Given the description of an element on the screen output the (x, y) to click on. 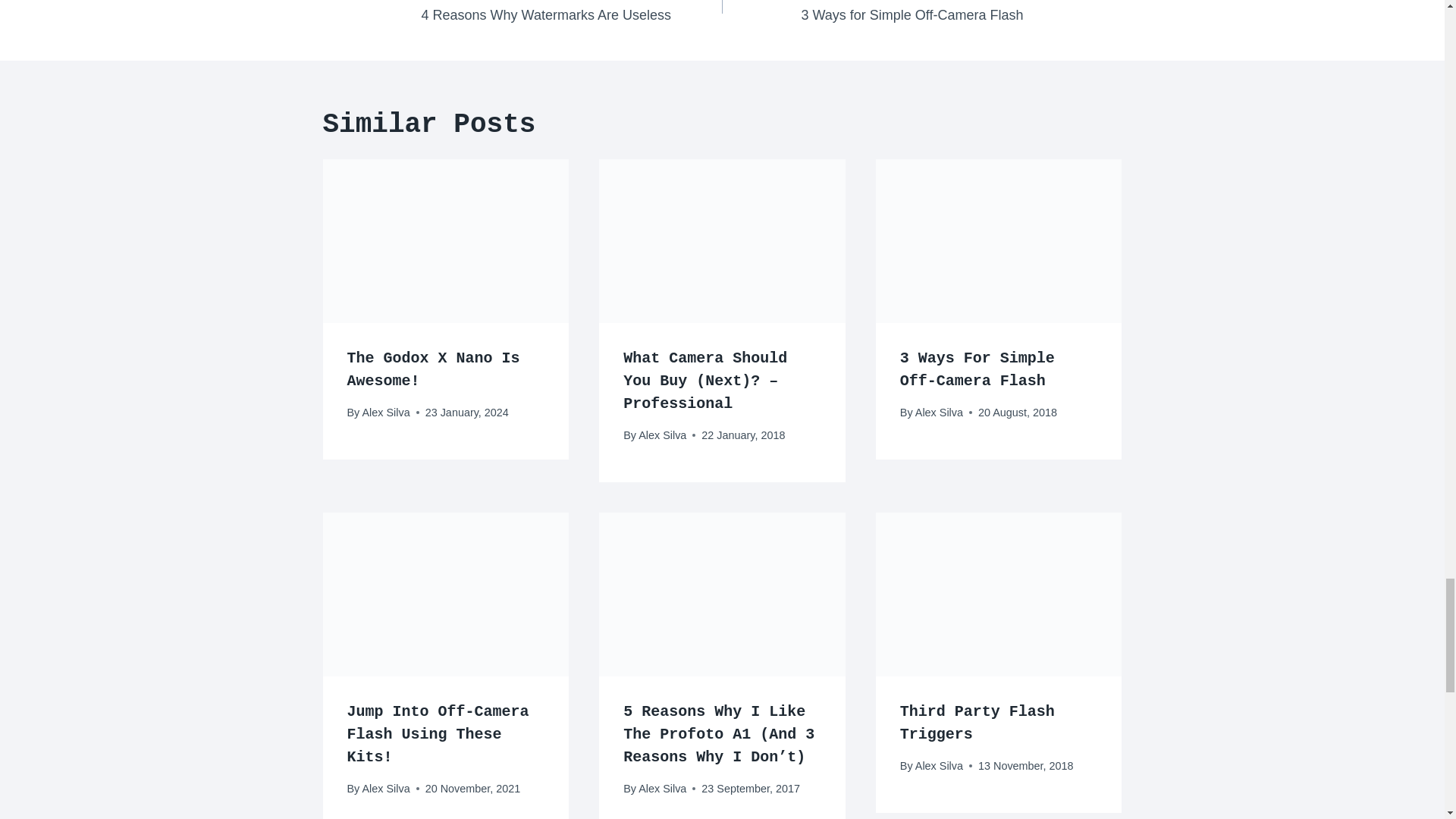
The Godox X Nano Is Awesome! (433, 369)
Alex Silva (662, 435)
3 Ways For Simple Off-Camera Flash (976, 369)
Alex Silva (572, 13)
Alex Silva (385, 412)
